Given the description of an element on the screen output the (x, y) to click on. 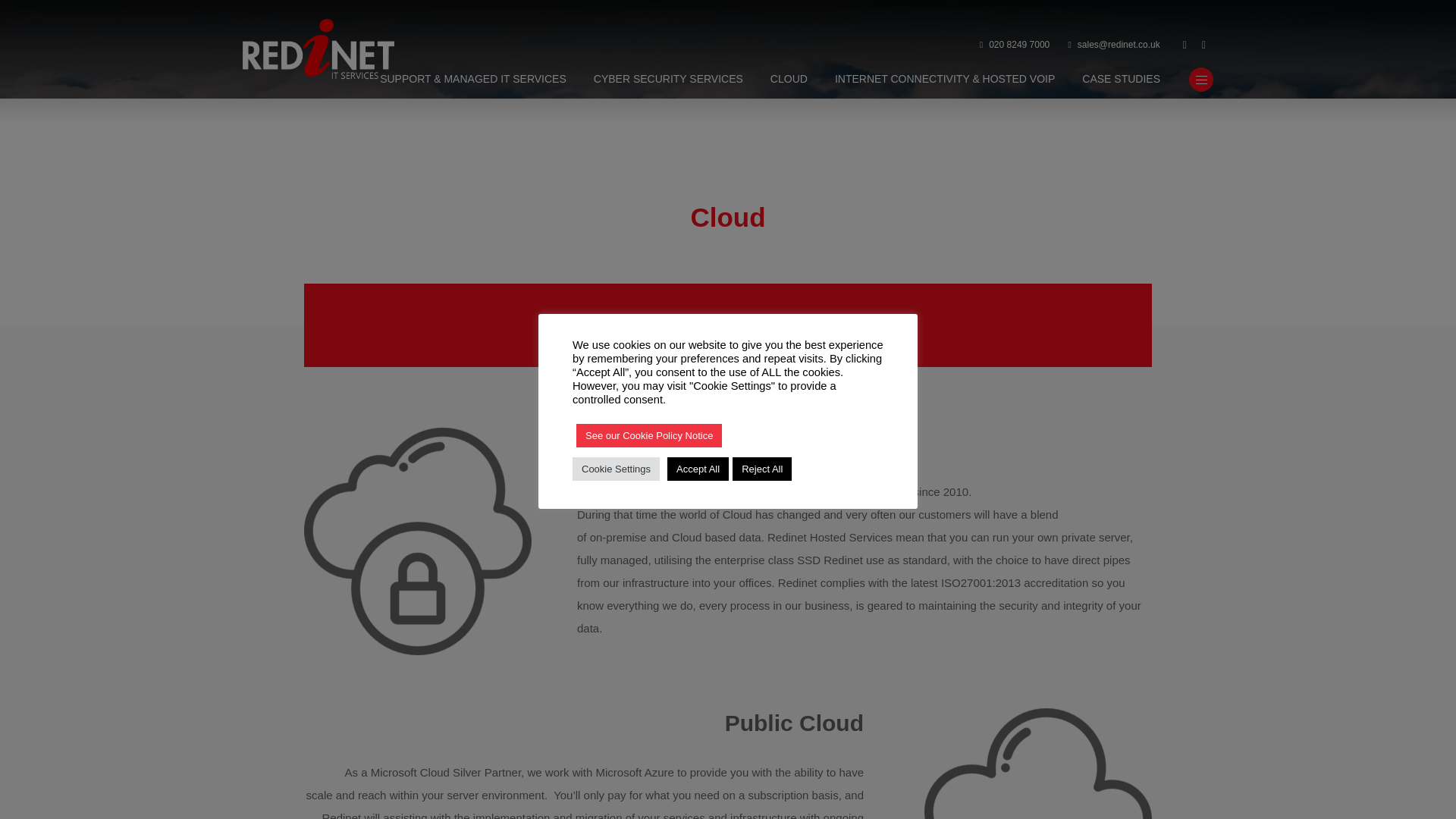
Reject All (762, 467)
See our Cookie Policy Notice (649, 434)
020 8249 7000 (1014, 45)
CYBER SECURITY SERVICES (668, 79)
Accept All (697, 467)
Cookie Settings (615, 467)
CASE STUDIES (1120, 79)
CLOUD (789, 79)
CLOUD (789, 79)
CYBER SECURITY SERVICES (668, 79)
